Given the description of an element on the screen output the (x, y) to click on. 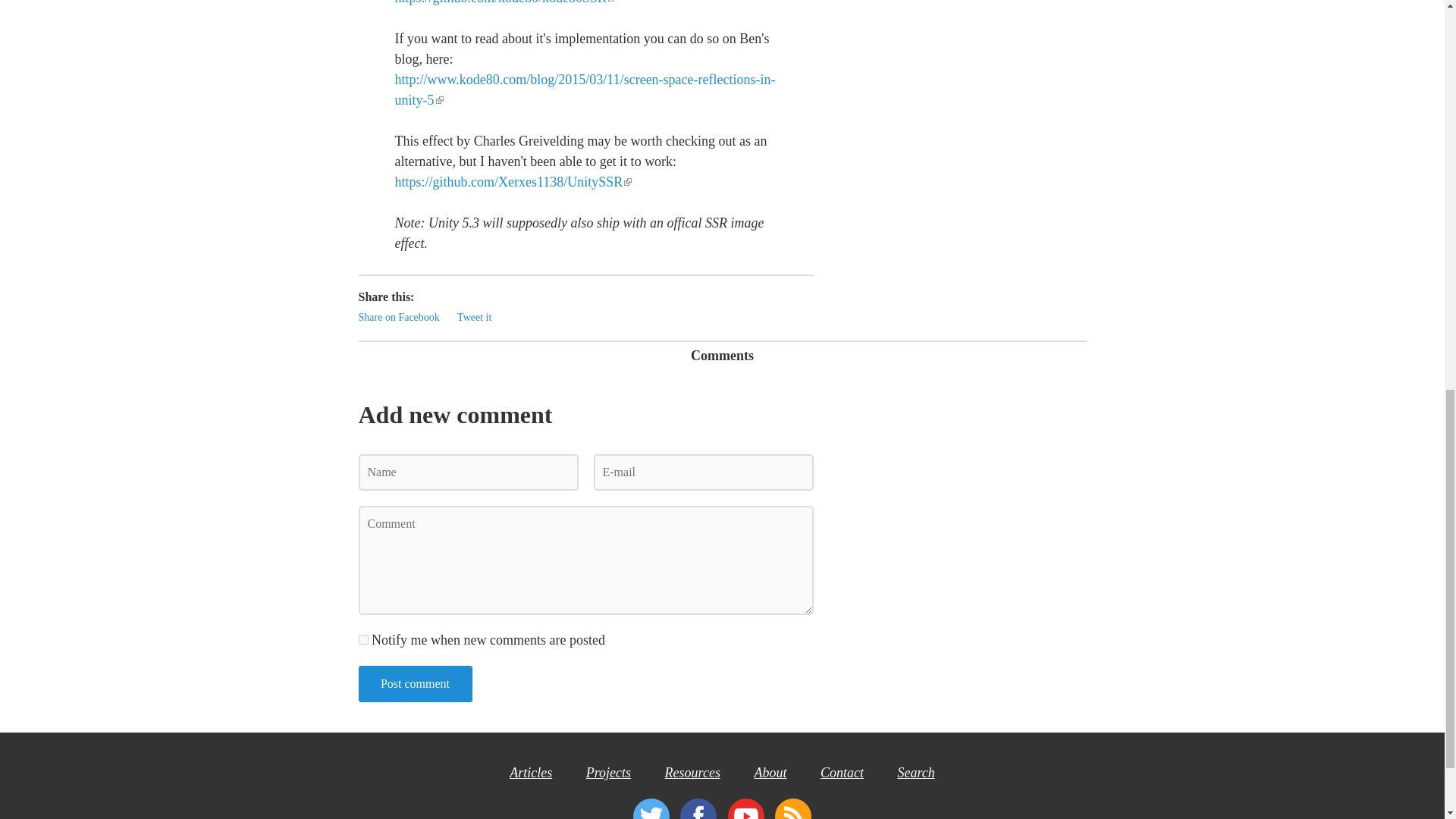
Contact (842, 772)
1 (363, 639)
Post comment (414, 683)
Share on Facebook (398, 317)
Search (915, 772)
Resources (692, 772)
Post comment (414, 683)
Comments (722, 356)
About (770, 772)
Projects (608, 772)
kode80 - Screen Space Reflections in Unity 5 (584, 89)
Tweet it (474, 317)
Articles (530, 772)
